Given the description of an element on the screen output the (x, y) to click on. 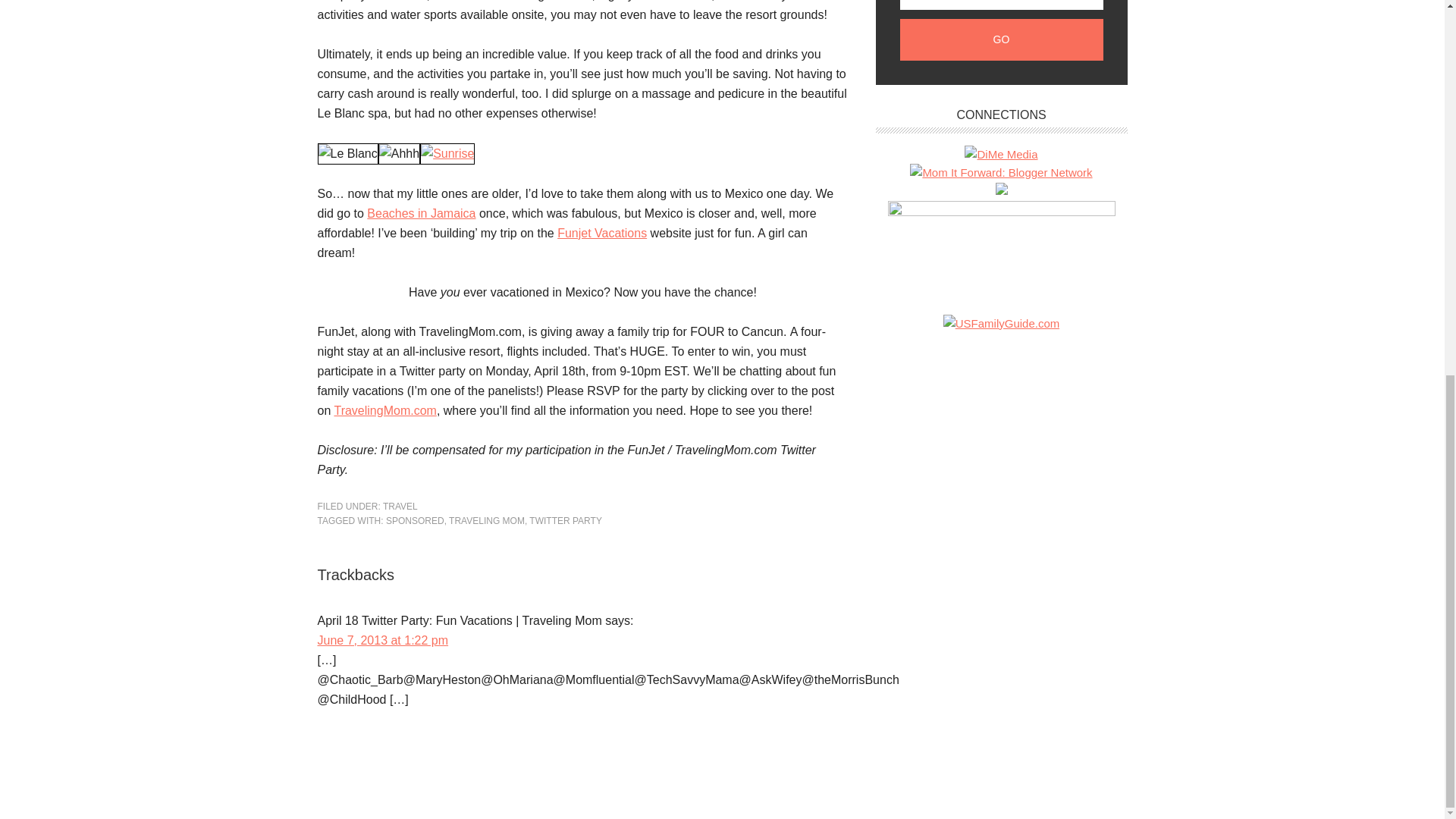
Go (1000, 39)
Sunrise by LookNoHands, on Flickr (447, 153)
I Have Massive Sway (1000, 211)
